Given the description of an element on the screen output the (x, y) to click on. 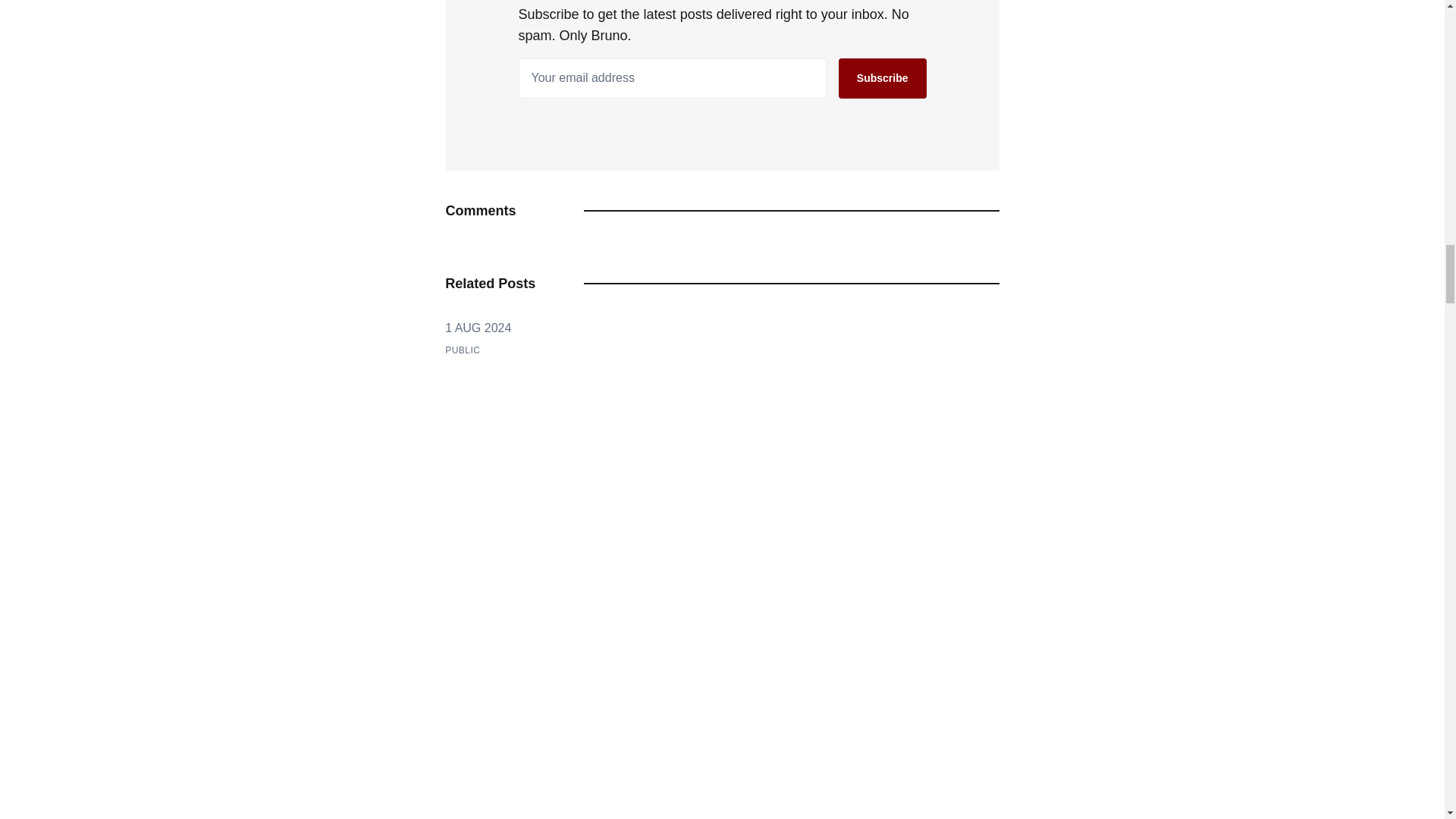
Subscribe (882, 78)
